Given the description of an element on the screen output the (x, y) to click on. 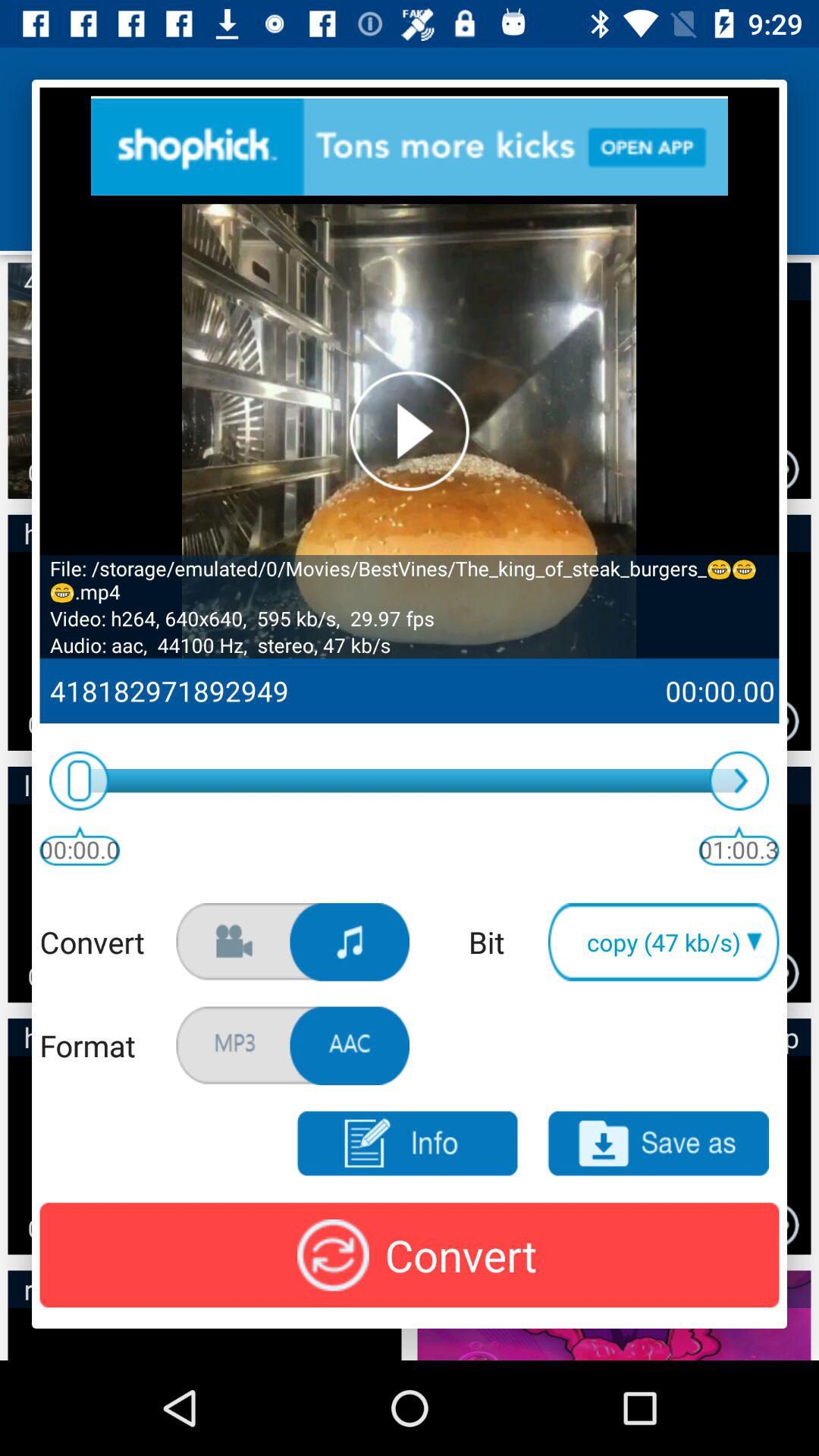
see advertisement (409, 145)
